Given the description of an element on the screen output the (x, y) to click on. 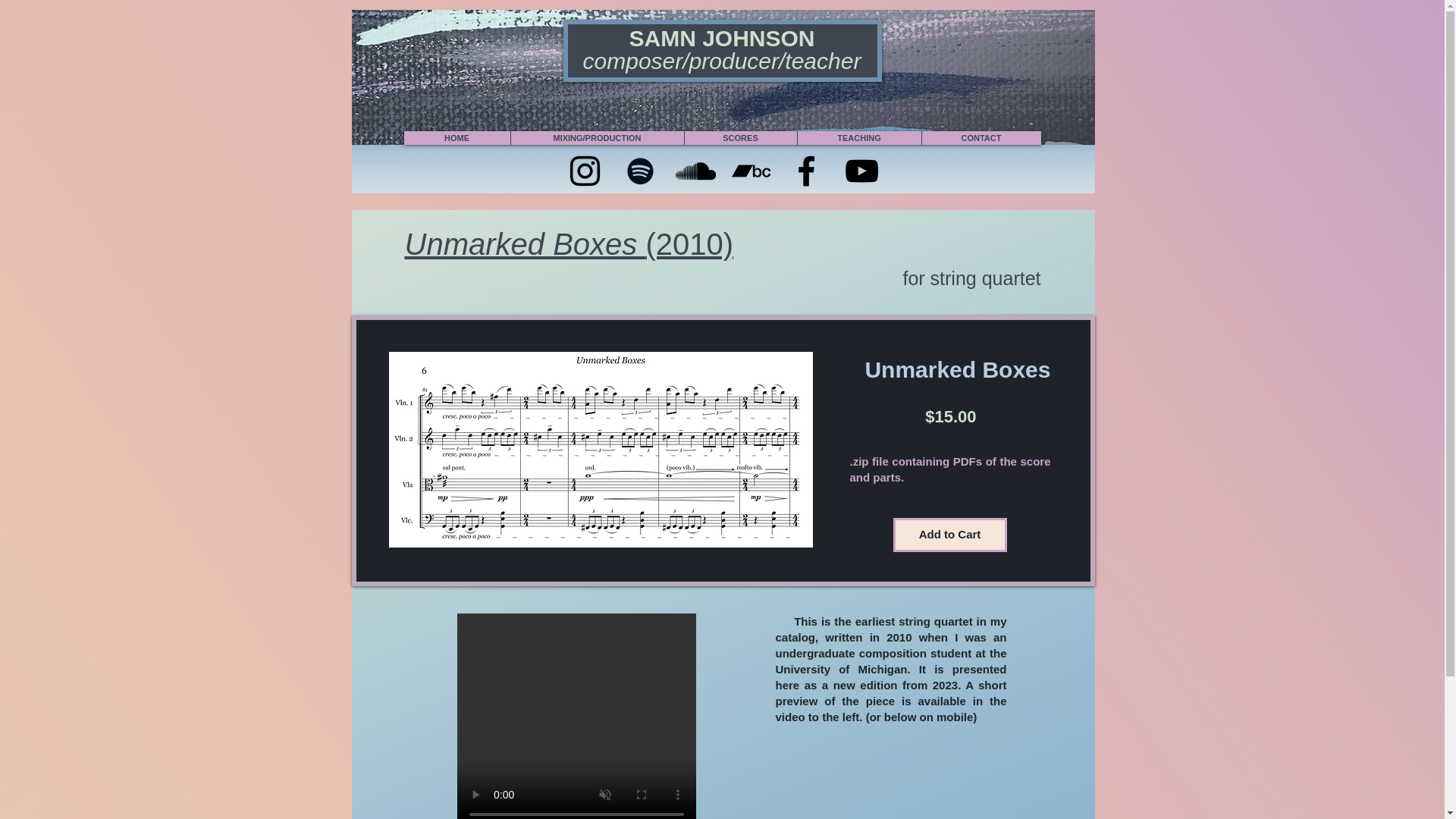
SCORES (740, 137)
HOME (456, 137)
CONTACT (980, 137)
TEACHING (858, 137)
Add to Cart (950, 534)
